Given the description of an element on the screen output the (x, y) to click on. 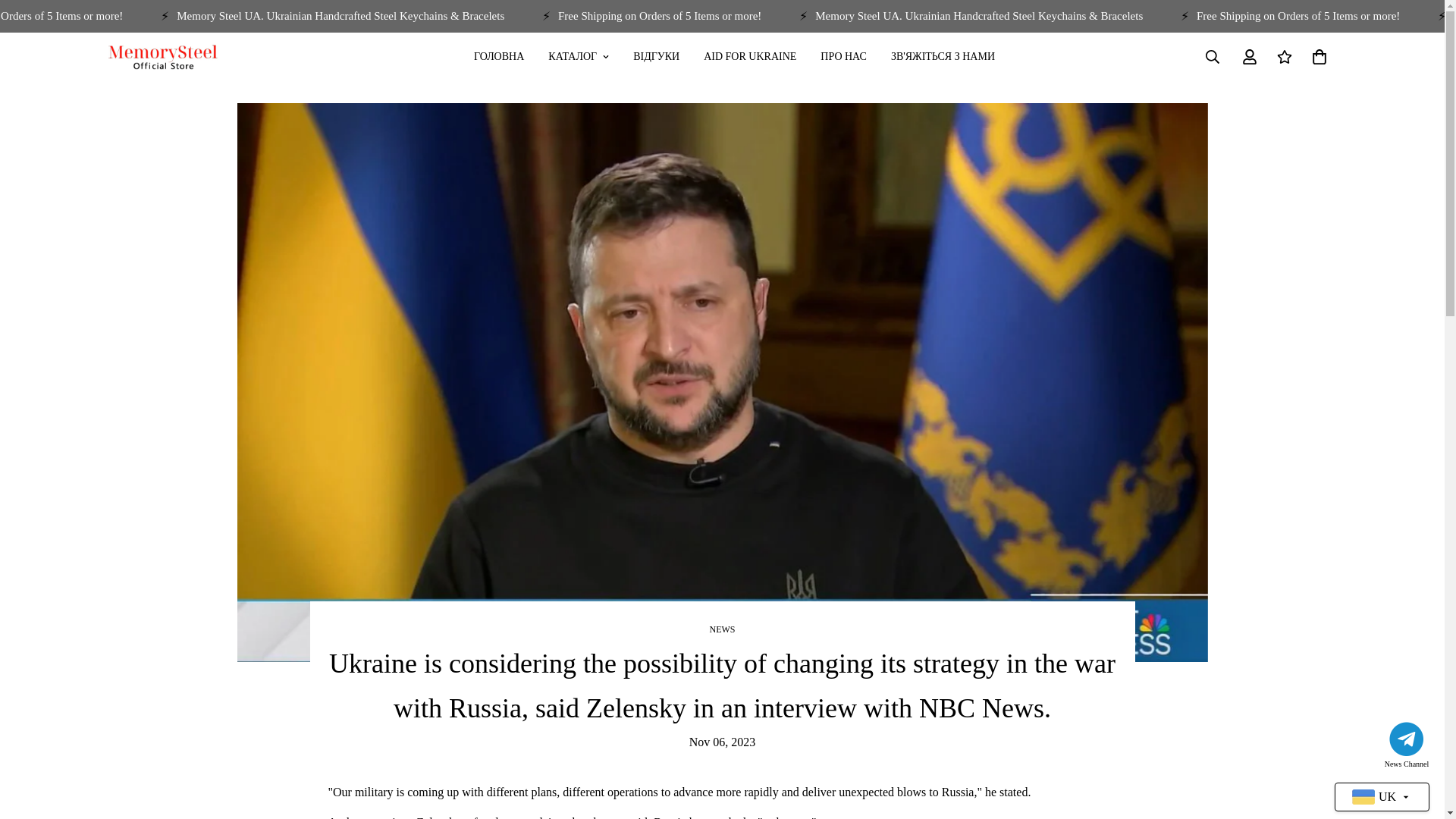
MemorySteelUA (161, 56)
NEWS (722, 629)
AID FOR UKRAINE (749, 56)
